Given the description of an element on the screen output the (x, y) to click on. 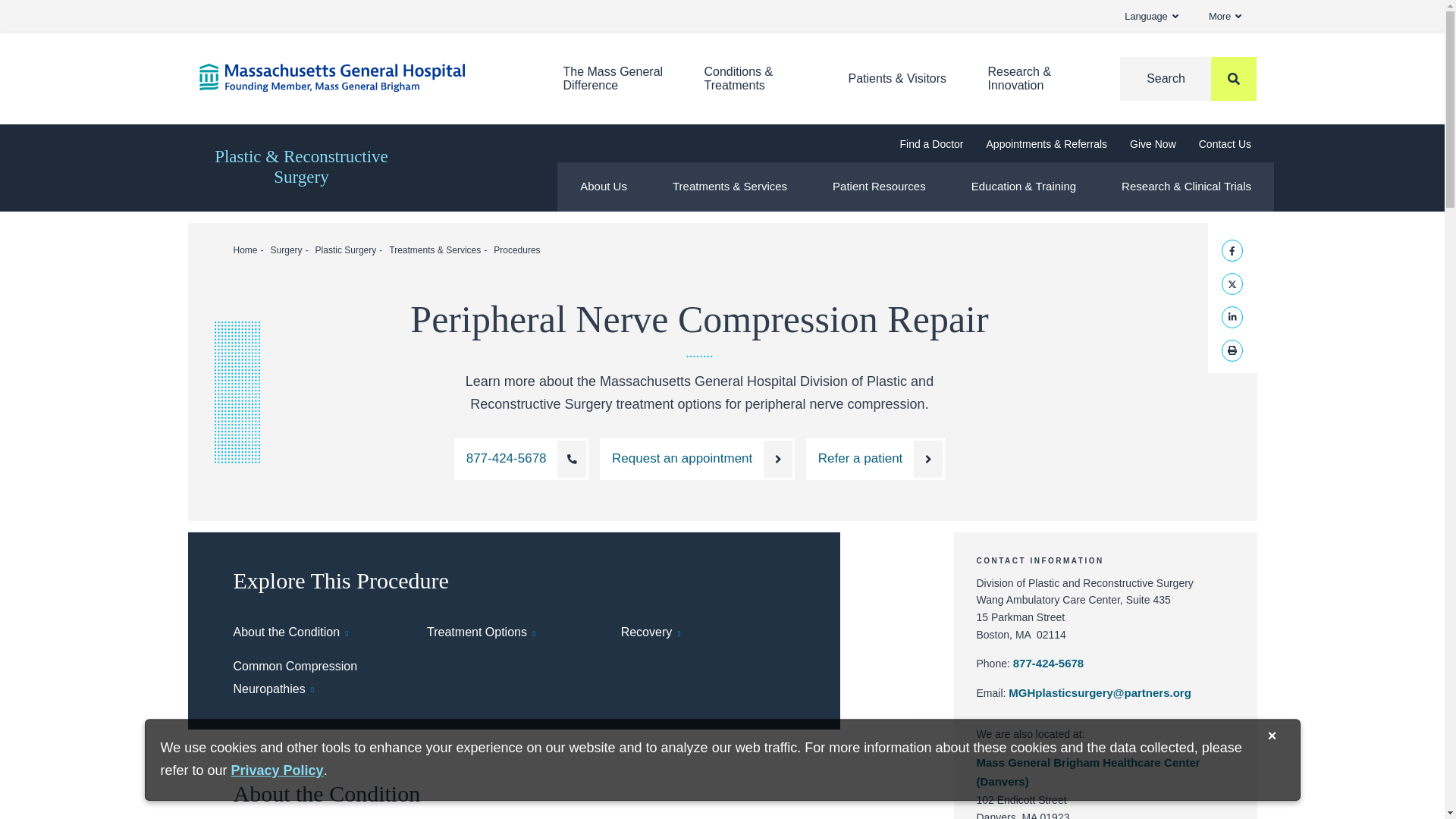
Language (1151, 16)
Home (357, 77)
More (1224, 16)
